Given the description of an element on the screen output the (x, y) to click on. 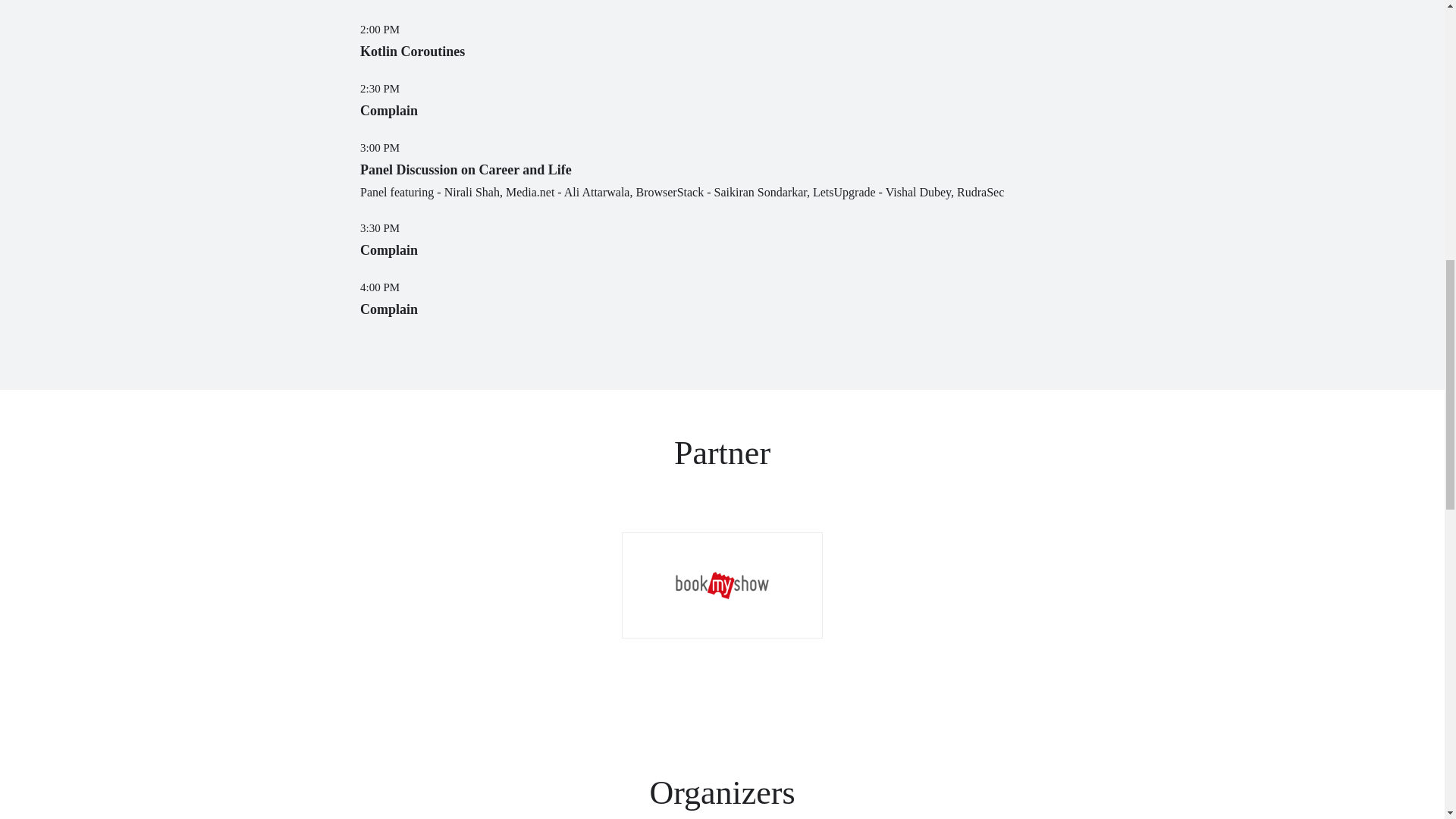
BookMyShow (722, 584)
